Given the description of an element on the screen output the (x, y) to click on. 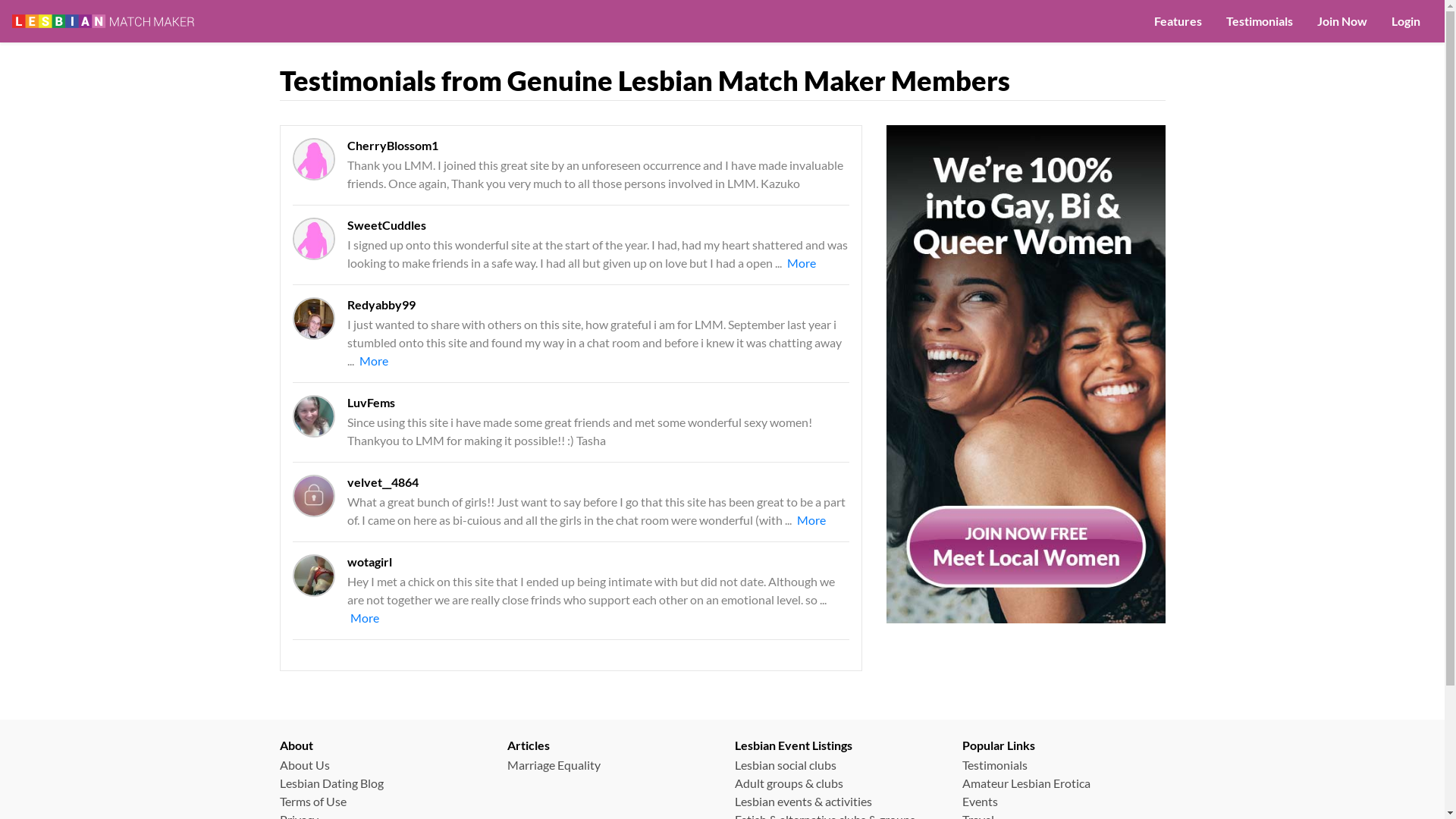
velvet__4864 Element type: hover (313, 495)
CherryBlossom1 Element type: hover (313, 159)
Features Element type: text (1178, 21)
Join Now Free - Meet Local Women Element type: hover (1024, 372)
Join Now Element type: text (1342, 21)
More Element type: text (810, 519)
Amateur Lesbian Erotica Element type: text (1025, 782)
Events Element type: text (979, 800)
More Element type: text (373, 360)
wotagirl Element type: hover (313, 575)
LuvFems Element type: hover (313, 416)
Testimonials Element type: text (1259, 21)
Marriage Equality Element type: text (552, 764)
Adult groups & clubs Element type: text (788, 782)
Redyabby99 Element type: hover (313, 318)
Lesbian social clubs Element type: text (784, 764)
More Element type: text (801, 262)
Terms of Use Element type: text (312, 800)
About Us Element type: text (304, 764)
SweetCuddles Element type: hover (313, 238)
Lesbian events & activities Element type: text (802, 800)
More Element type: text (364, 617)
Testimonials Element type: text (993, 764)
Lesbian Dating Blog Element type: text (330, 782)
Login Element type: text (1405, 21)
